Given the description of an element on the screen output the (x, y) to click on. 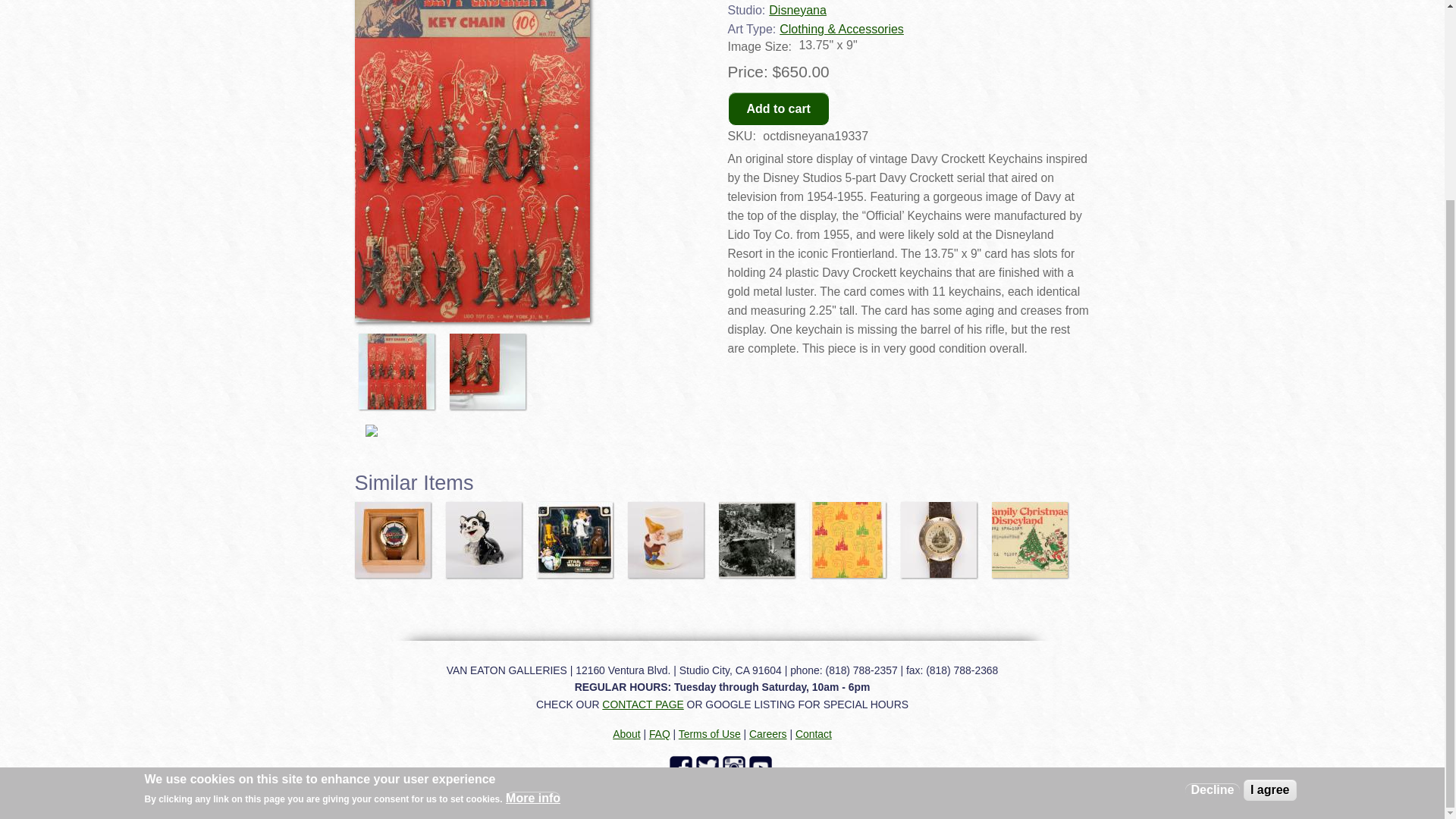
FAQ (659, 734)
Follow Van Eaton Galleries on Twitter (708, 766)
About (626, 734)
Follow Van Eaton Galleries on Facebook (681, 766)
Davy Crockett Keychains on Display - ID: octdisneyana19337 (491, 364)
Terms of Use (709, 734)
CONTACT PAGE (642, 704)
Careers (767, 734)
Contact (812, 734)
Add to cart (778, 108)
